Given the description of an element on the screen output the (x, y) to click on. 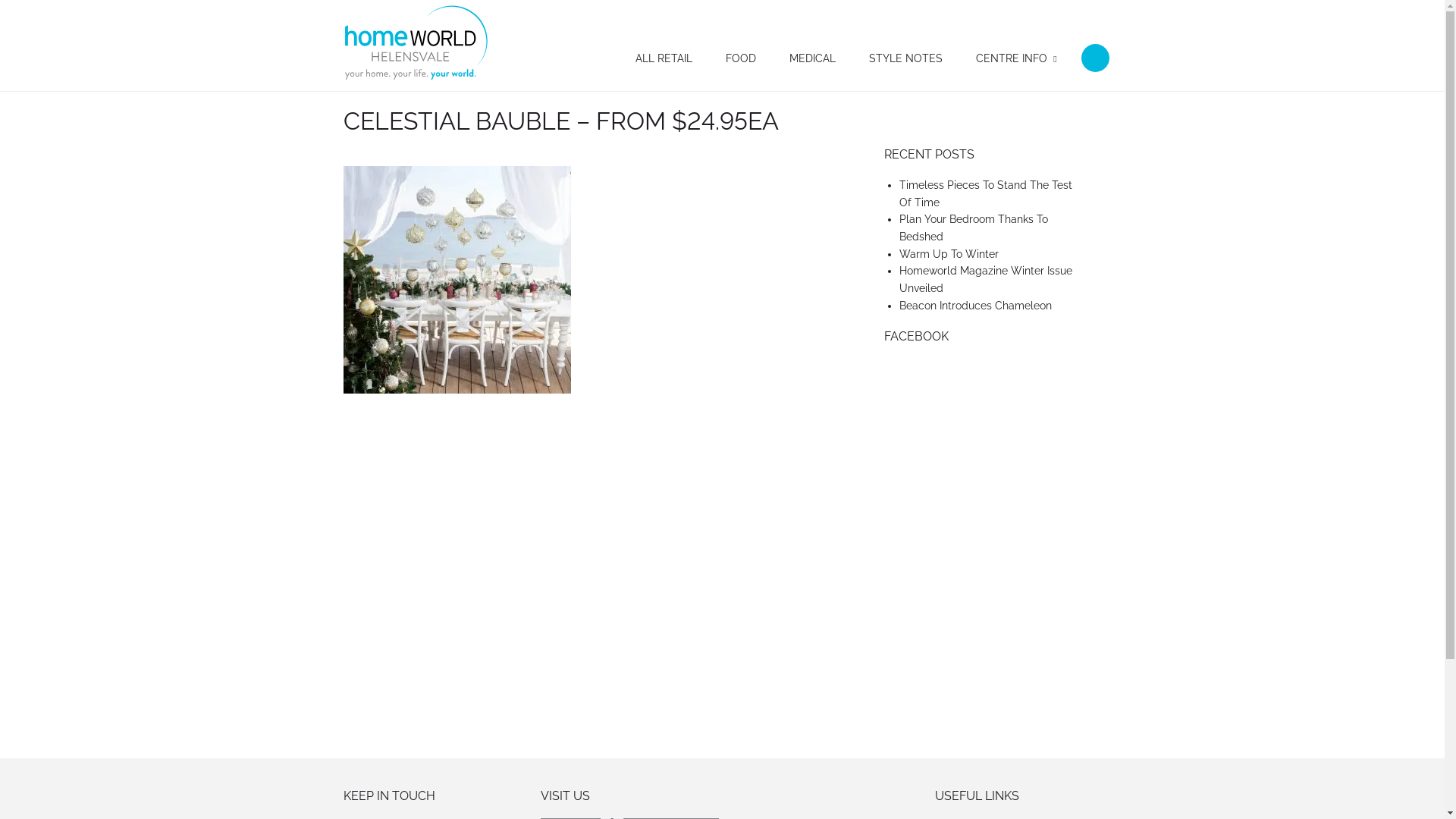
STYLE NOTES Element type: text (905, 57)
FOOD Element type: text (739, 57)
Beacon Introduces Chameleon Element type: text (975, 305)
Warm Up To Winter Element type: text (948, 253)
MEDICAL Element type: text (811, 57)
Homeworld Magazine Winter Issue Unveiled Element type: text (985, 279)
CENTRE INFO Element type: text (1010, 57)
Homeworld Helensvale Element type: hover (415, 41)
ALL RETAIL Element type: text (663, 57)
Timeless Pieces To Stand The Test Of Time Element type: text (985, 193)
Plan Your Bedroom Thanks To Bedshed Element type: text (973, 227)
